Given the description of an element on the screen output the (x, y) to click on. 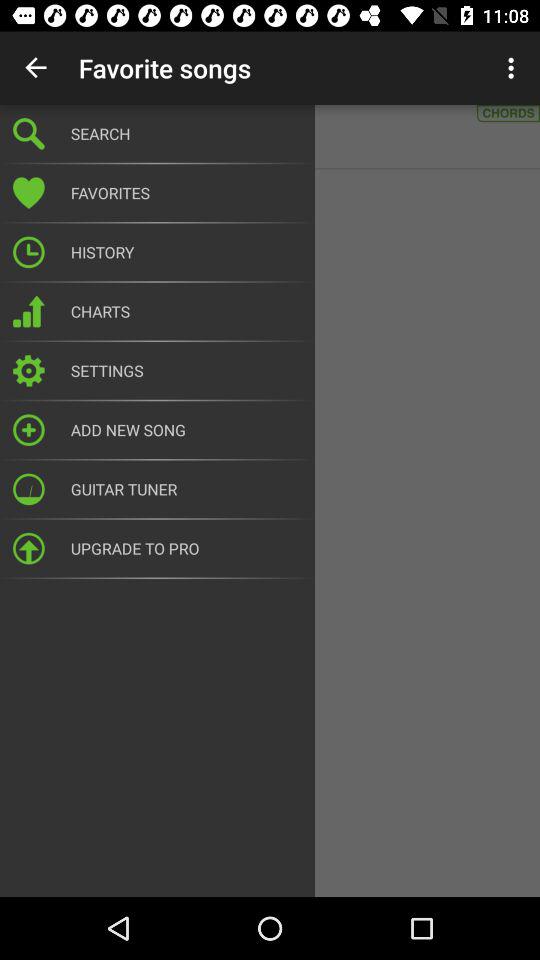
launch settings icon (185, 370)
